Given the description of an element on the screen output the (x, y) to click on. 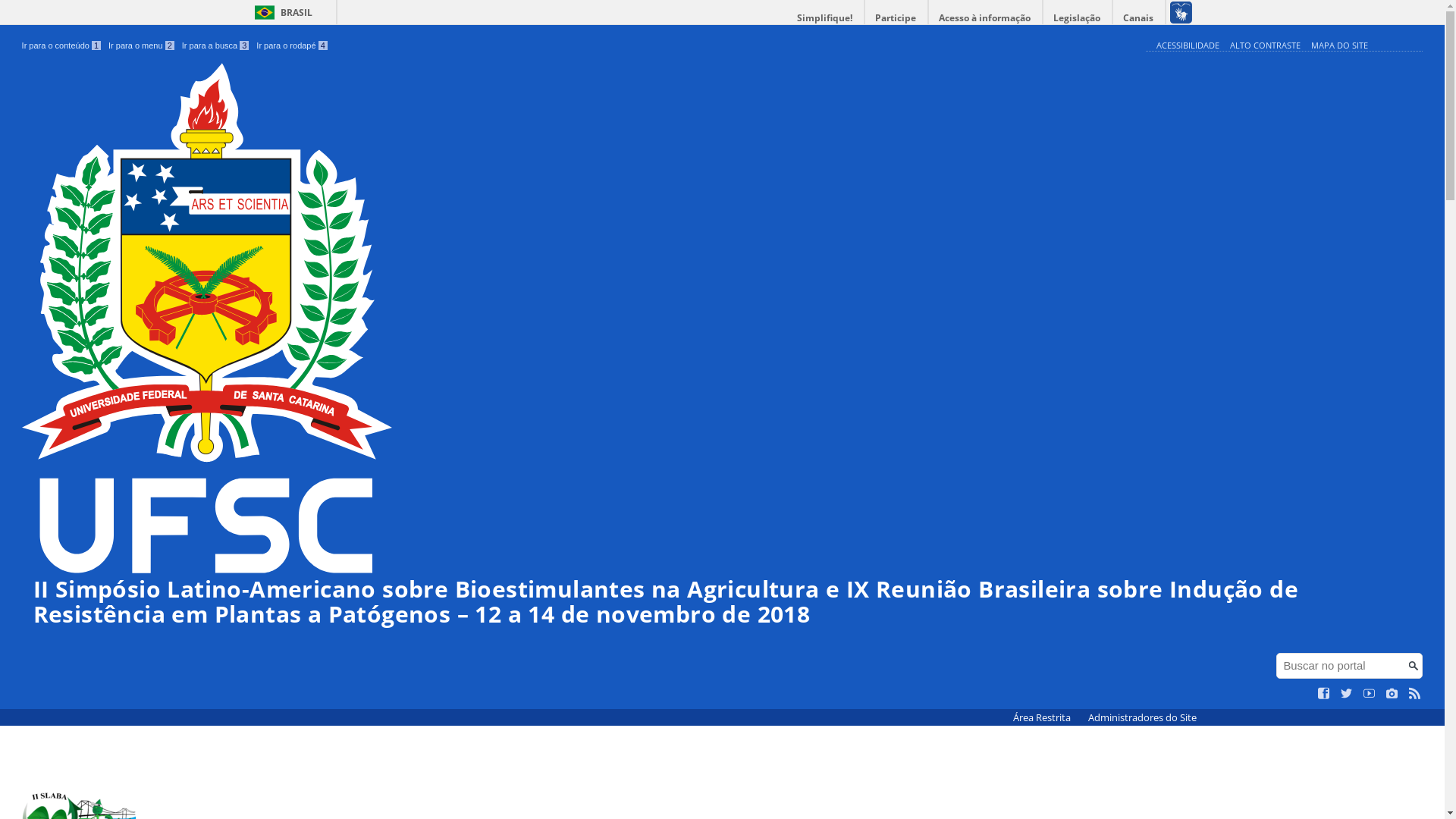
Simplifique! Element type: text (825, 18)
ALTO CONTRASTE Element type: text (1265, 44)
Curta no Facebook Element type: hover (1323, 693)
ACESSIBILIDADE Element type: text (1187, 44)
Siga no Twitter Element type: hover (1346, 693)
Ir para o menu 2 Element type: text (141, 45)
MAPA DO SITE Element type: text (1339, 44)
Administradores do Site Element type: text (1141, 717)
Ir para a busca 3 Element type: text (215, 45)
Veja no Instagram Element type: hover (1392, 693)
Participe Element type: text (895, 18)
Canais Element type: text (1138, 18)
BRASIL Element type: text (280, 12)
